Given the description of an element on the screen output the (x, y) to click on. 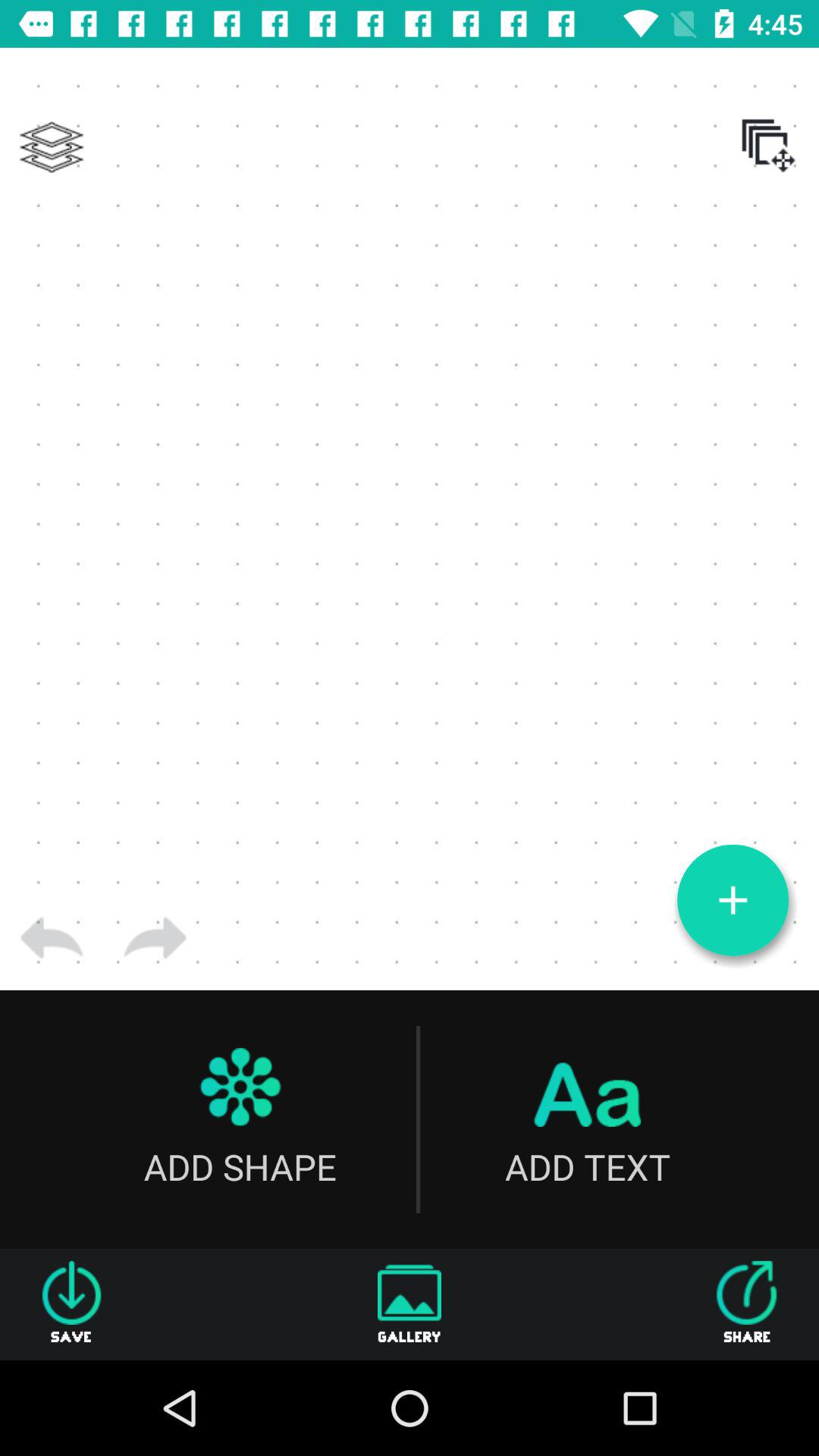
jump until the gallery icon (409, 1304)
